Given the description of an element on the screen output the (x, y) to click on. 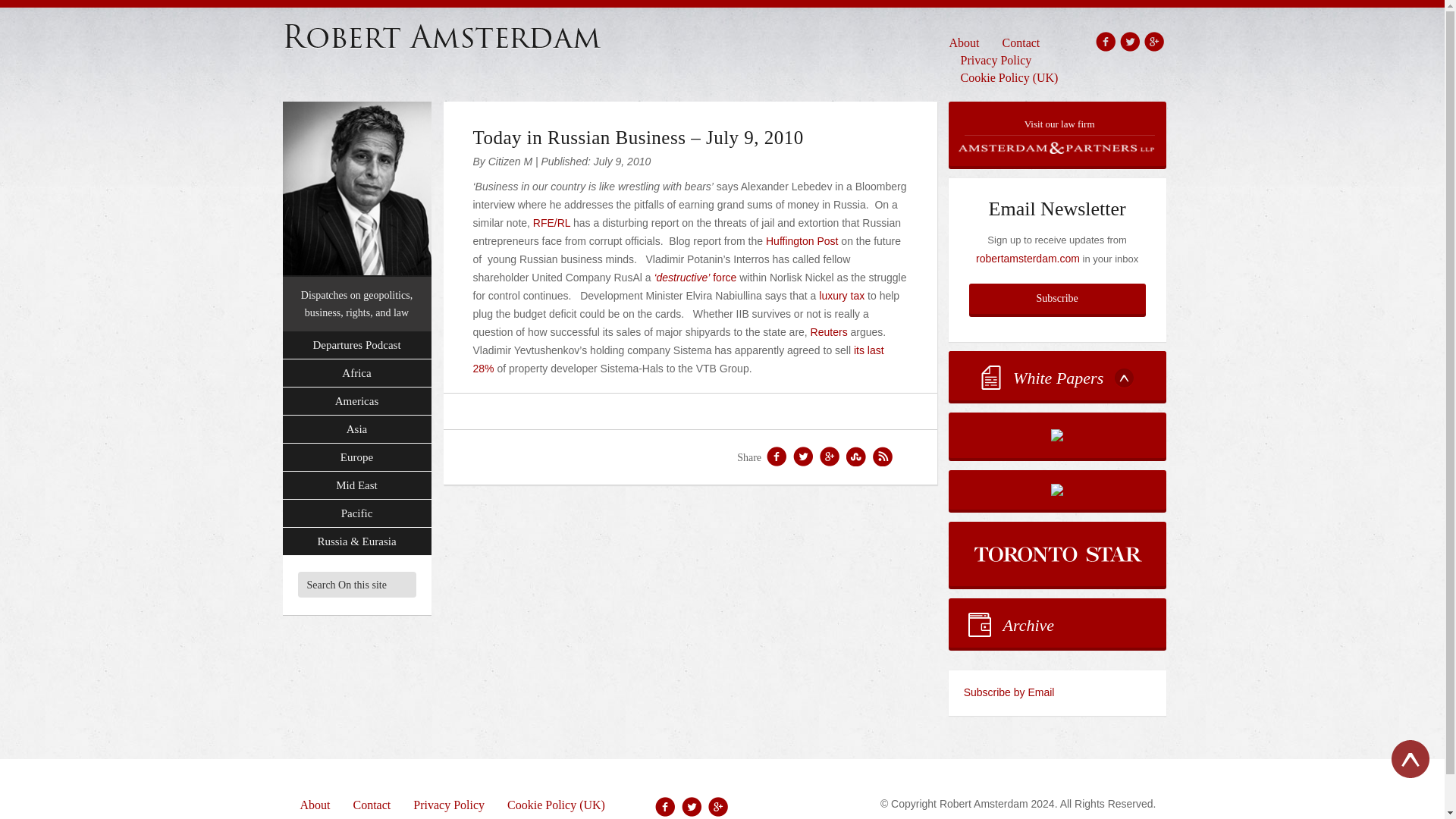
Huffington Post (801, 241)
Pacific (356, 513)
robertamsterdam.com (1027, 258)
Subscribe (1057, 298)
Subscribe to the Robert Amsterdam feed by email (1057, 692)
White Papers (1057, 375)
About (970, 42)
luxury tax (841, 295)
Contact (1021, 42)
Reuters (828, 331)
